Given the description of an element on the screen output the (x, y) to click on. 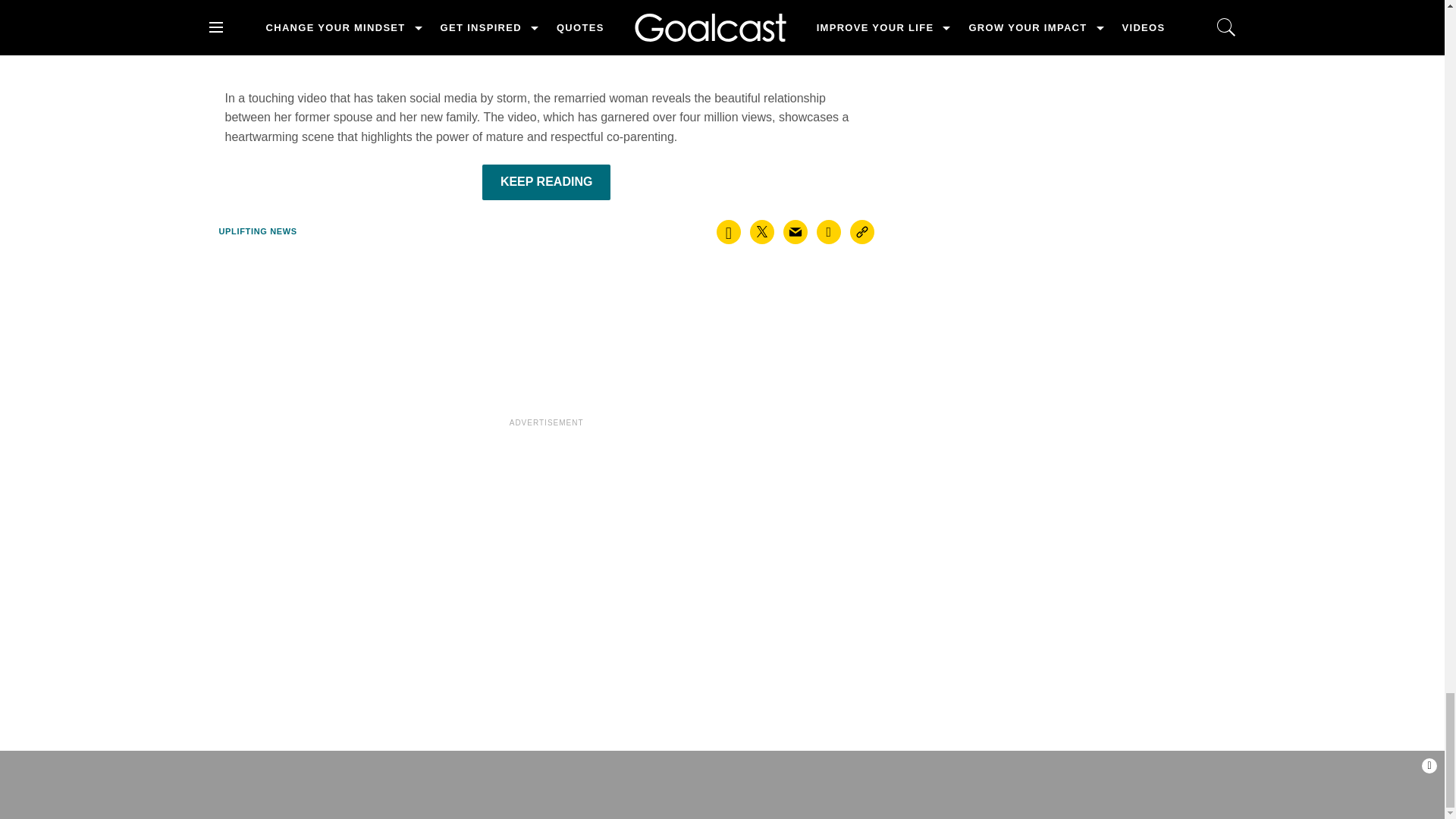
Copy this link to clipboard (862, 232)
